Given the description of an element on the screen output the (x, y) to click on. 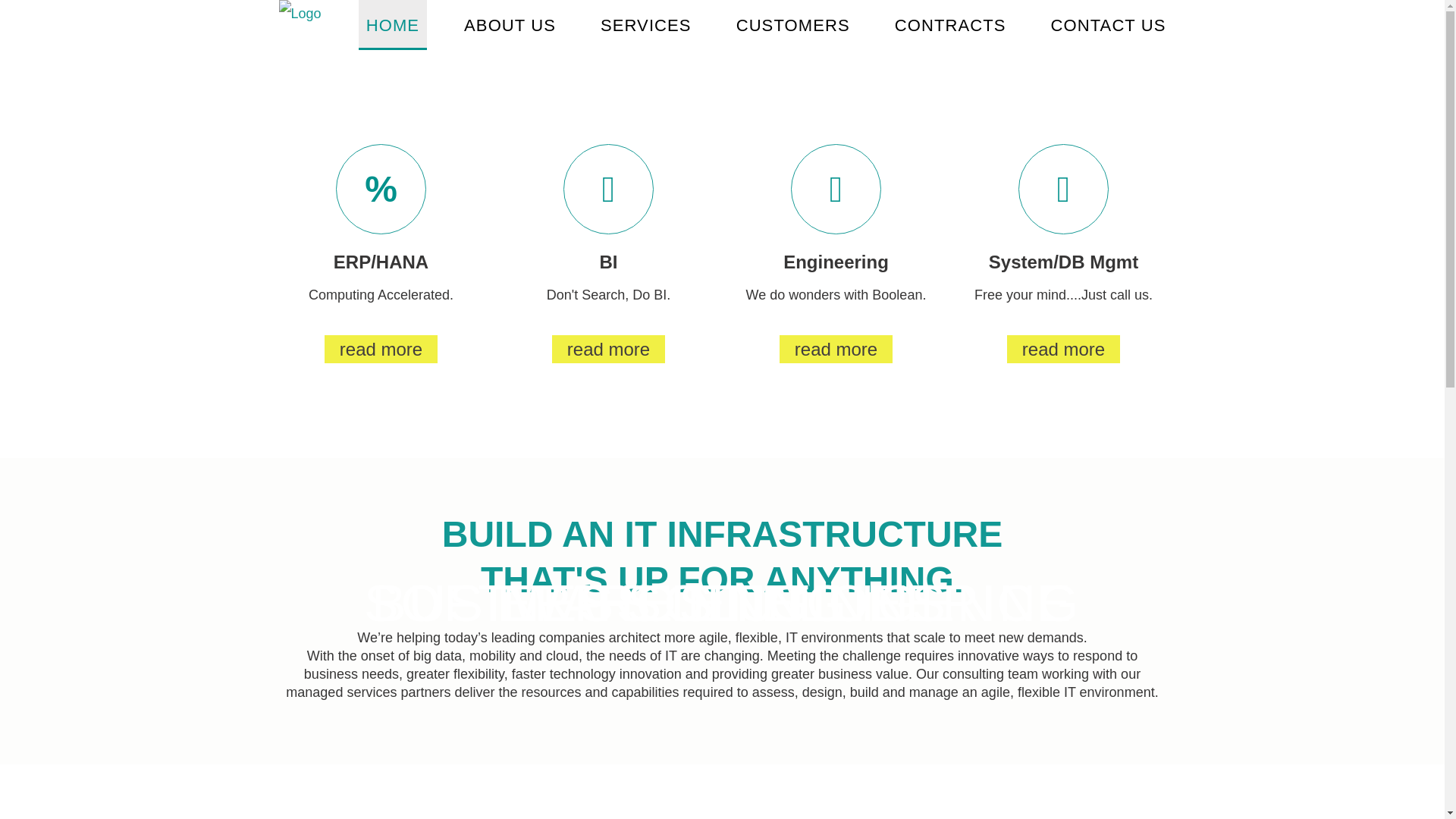
CUSTOMERS Element type: text (792, 25)
read more Element type: text (380, 349)
CONTRACTS Element type: text (950, 25)
HOME Element type: text (392, 25)
SERVICES Element type: text (646, 25)
ABOUT US Element type: text (509, 25)
read more Element type: text (1063, 349)
CONTACT US Element type: text (1108, 25)
read more Element type: text (608, 349)
read more Element type: text (835, 349)
